Given the description of an element on the screen output the (x, y) to click on. 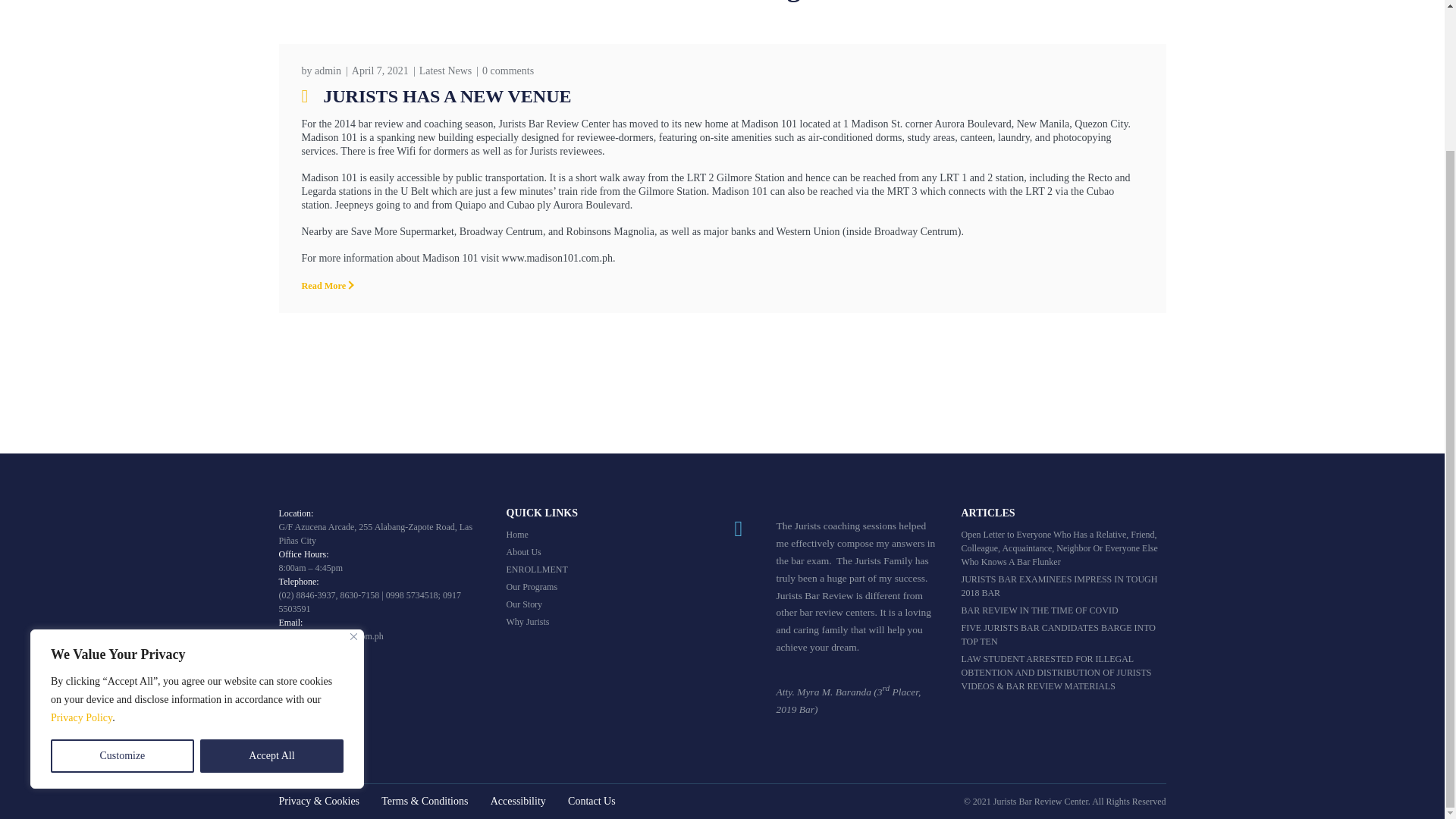
Privacy Policy (81, 543)
Customize (121, 581)
Accept All (271, 581)
